Given the description of an element on the screen output the (x, y) to click on. 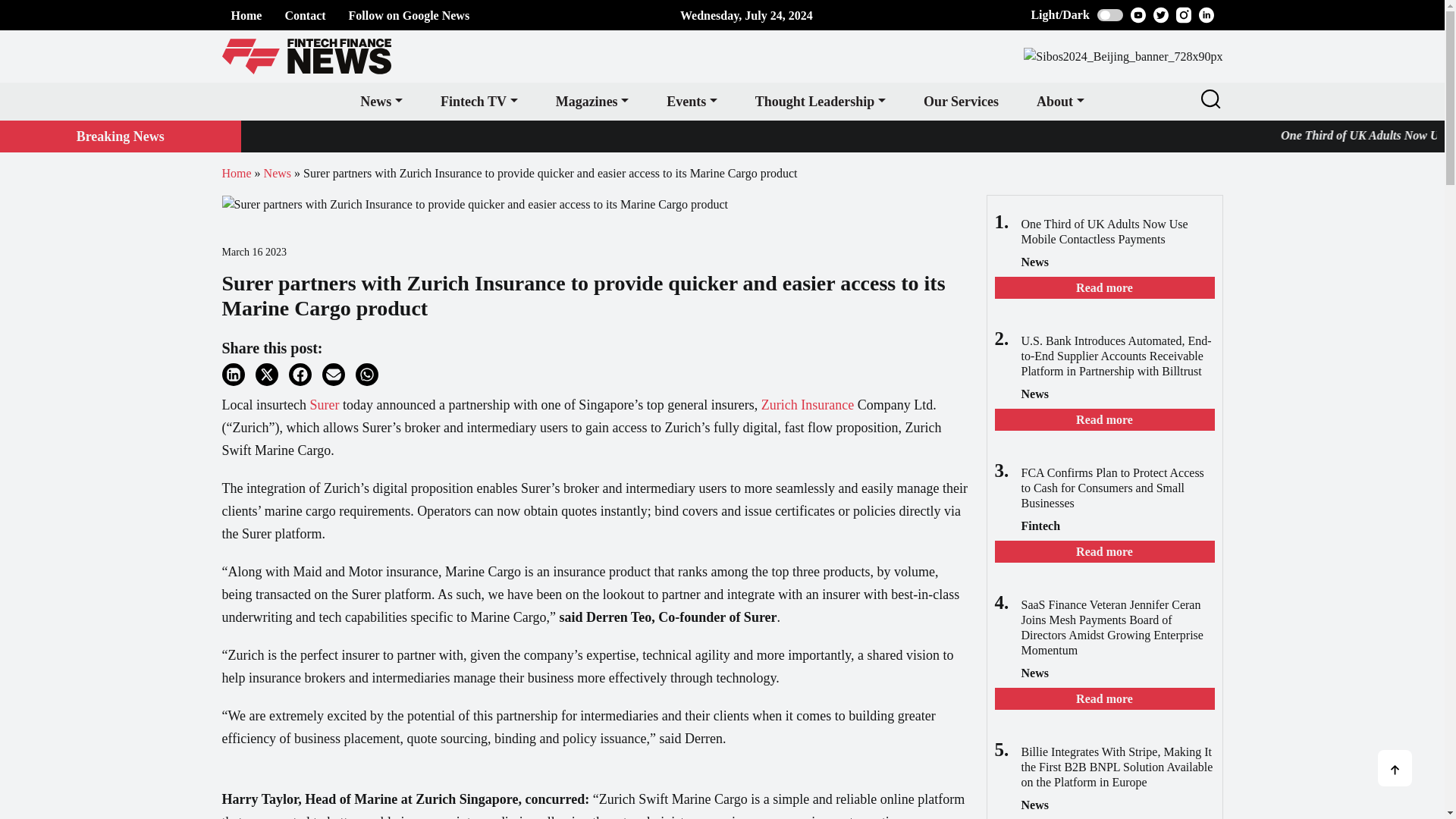
News (381, 101)
Events (691, 101)
Follow on Google News (409, 15)
Fintech TV (479, 101)
Home (246, 15)
Fintech TV (479, 101)
Contact (303, 15)
Magazines (592, 101)
